Given the description of an element on the screen output the (x, y) to click on. 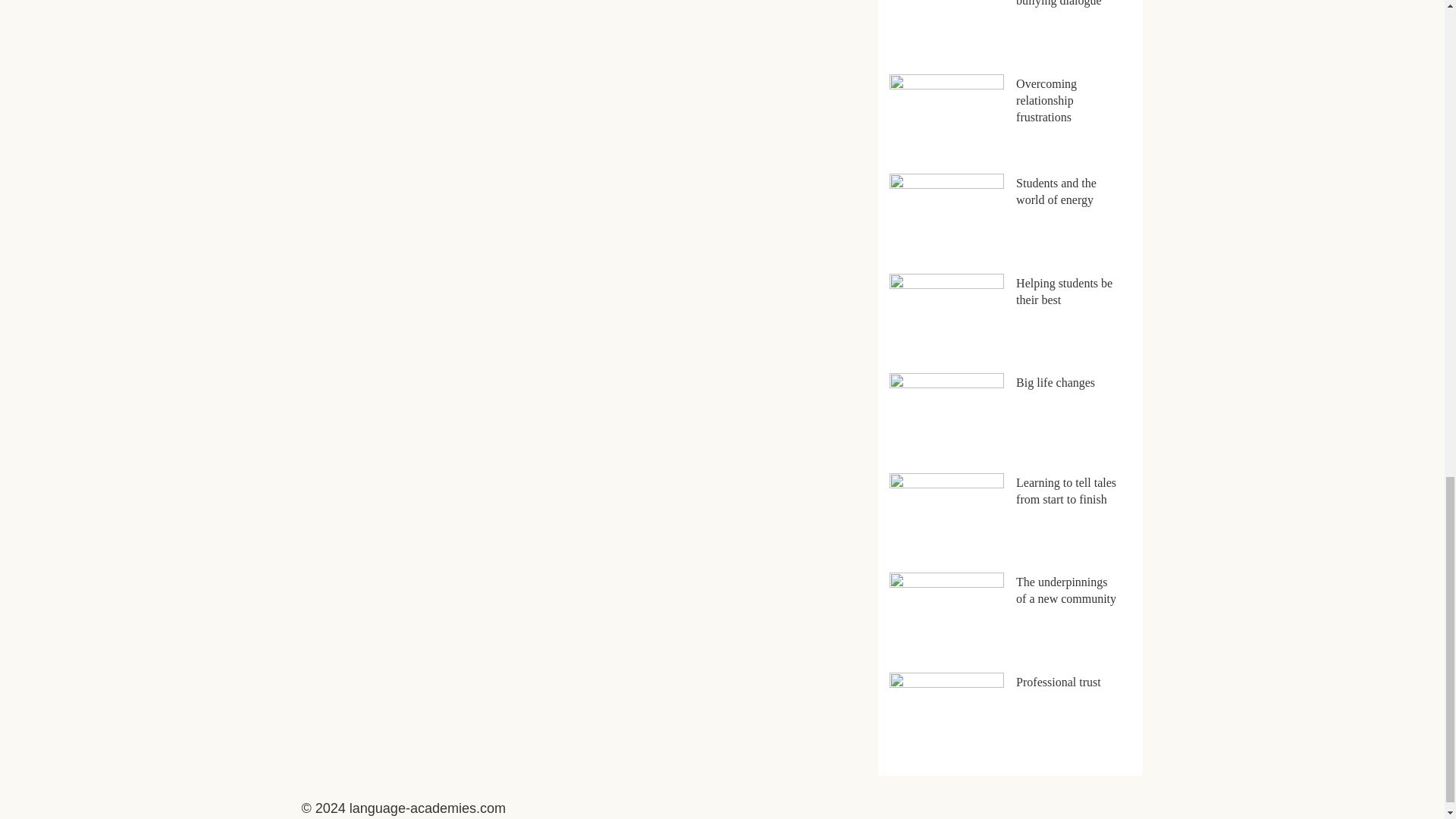
Helping students be their best (1064, 291)
Overcoming relationship frustrations (1046, 99)
Big life changes (1055, 382)
Students and the world of energy (1056, 191)
Opening an anti-bullying dialogue (1058, 3)
